Given the description of an element on the screen output the (x, y) to click on. 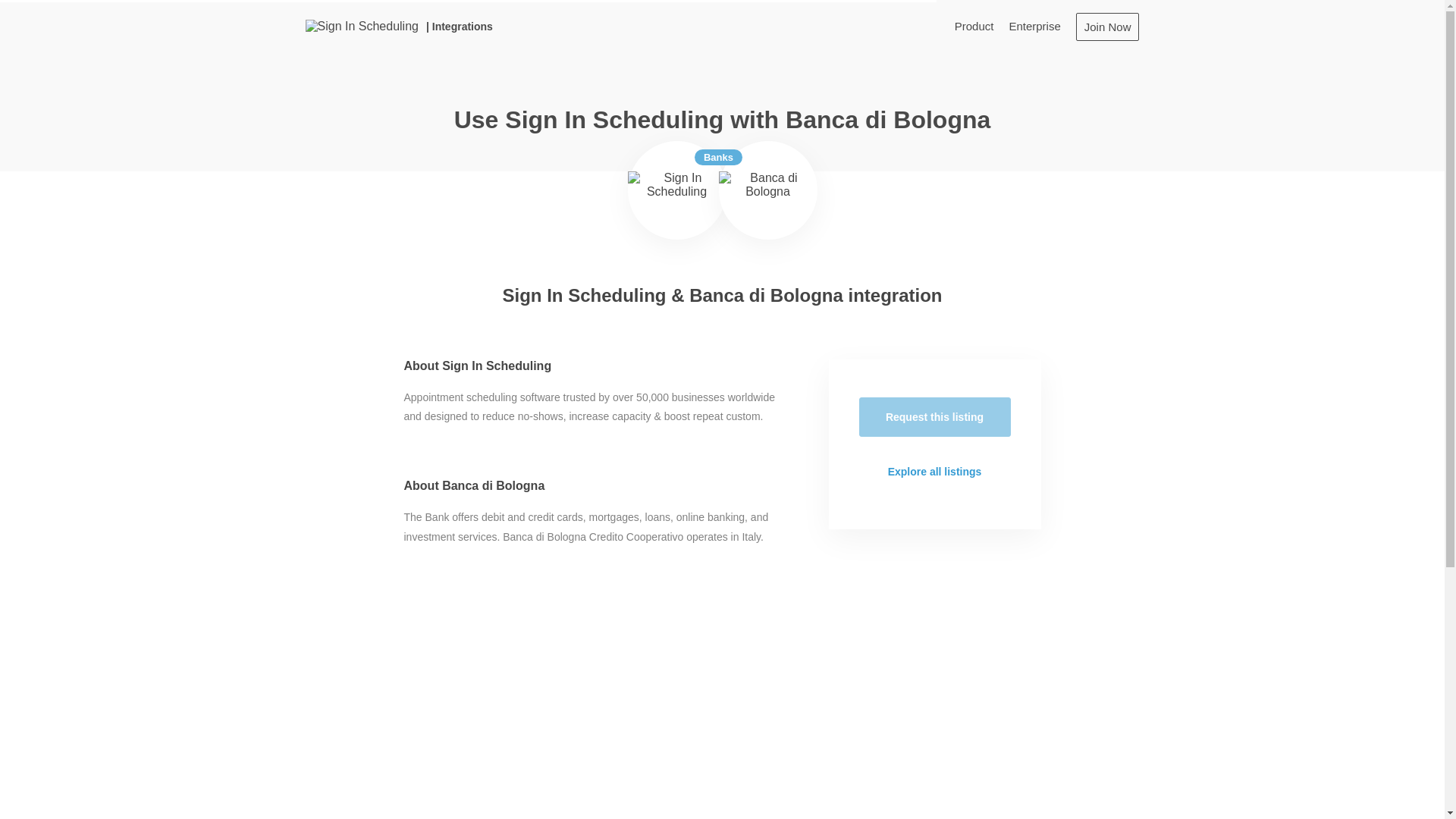
Join Now (1107, 26)
Product (974, 25)
Enterprise (1034, 25)
Request this listing (934, 416)
Banca di Bologna (767, 190)
Sign In Scheduling (676, 190)
Sign In Scheduling (360, 26)
Explore all listings (934, 471)
